Given the description of an element on the screen output the (x, y) to click on. 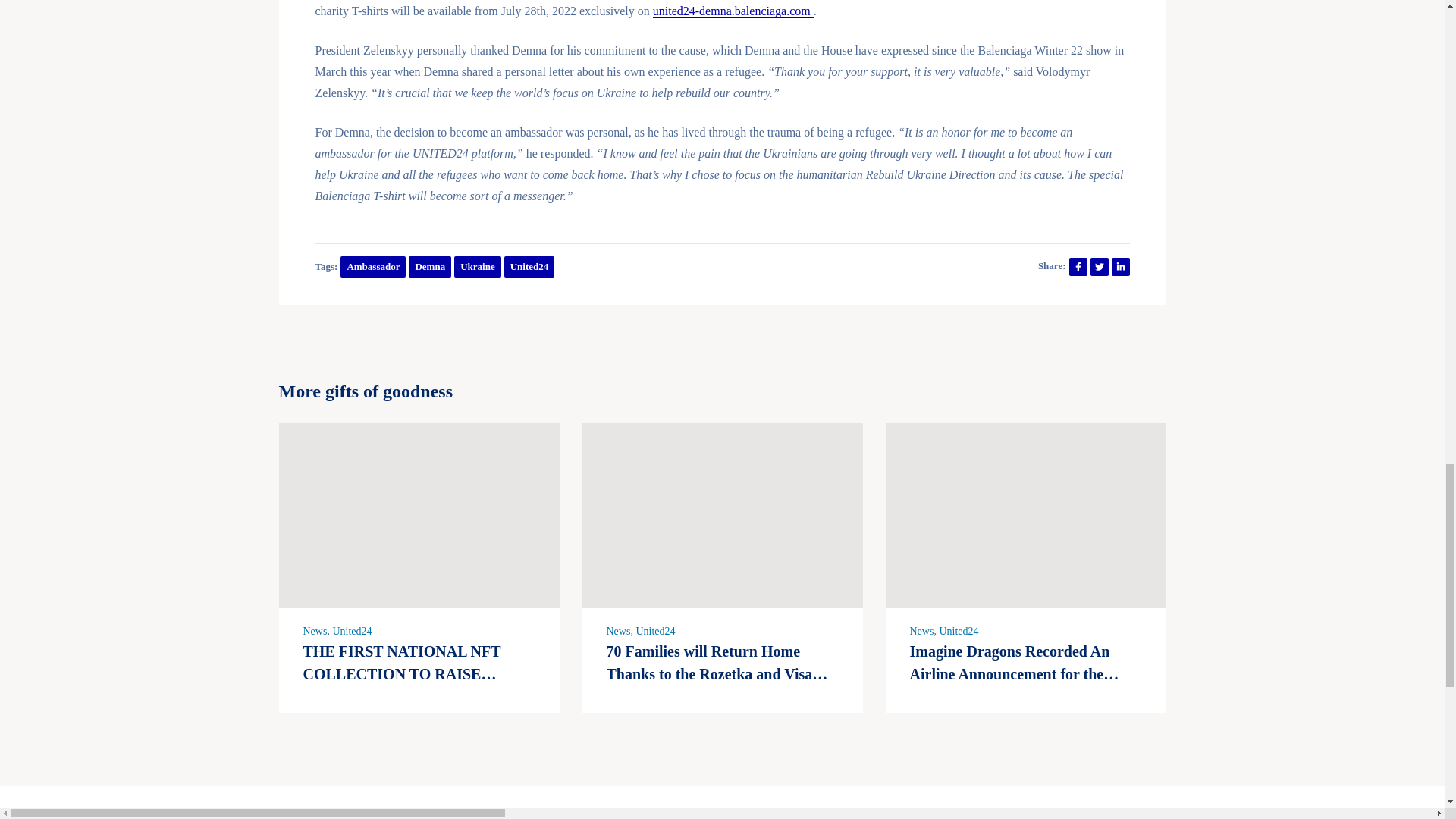
Ambassador (373, 266)
News (618, 631)
United24 (654, 631)
Demna (430, 266)
News (922, 631)
